Given the description of an element on the screen output the (x, y) to click on. 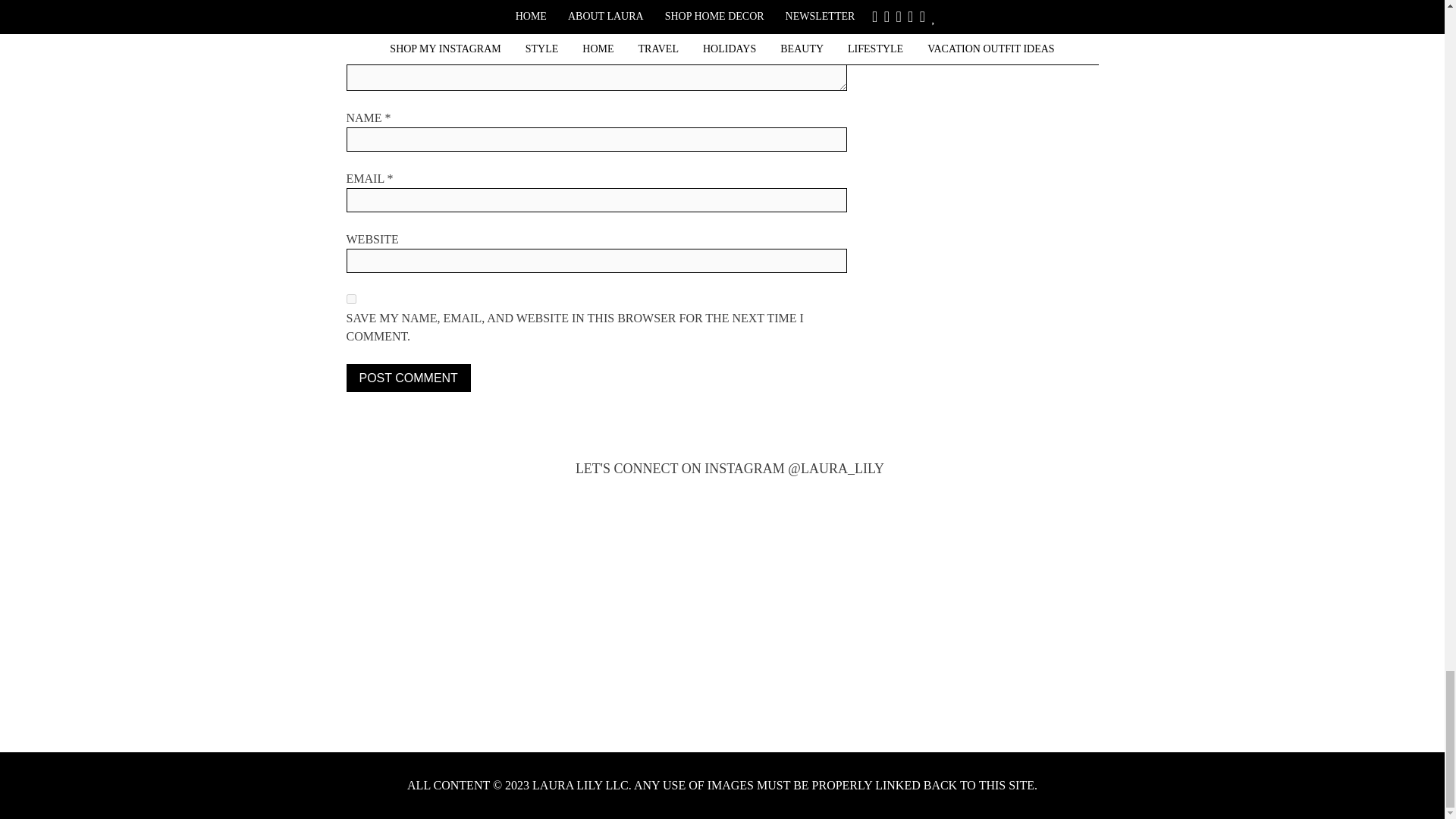
yes (350, 298)
Post Comment (408, 377)
